Given the description of an element on the screen output the (x, y) to click on. 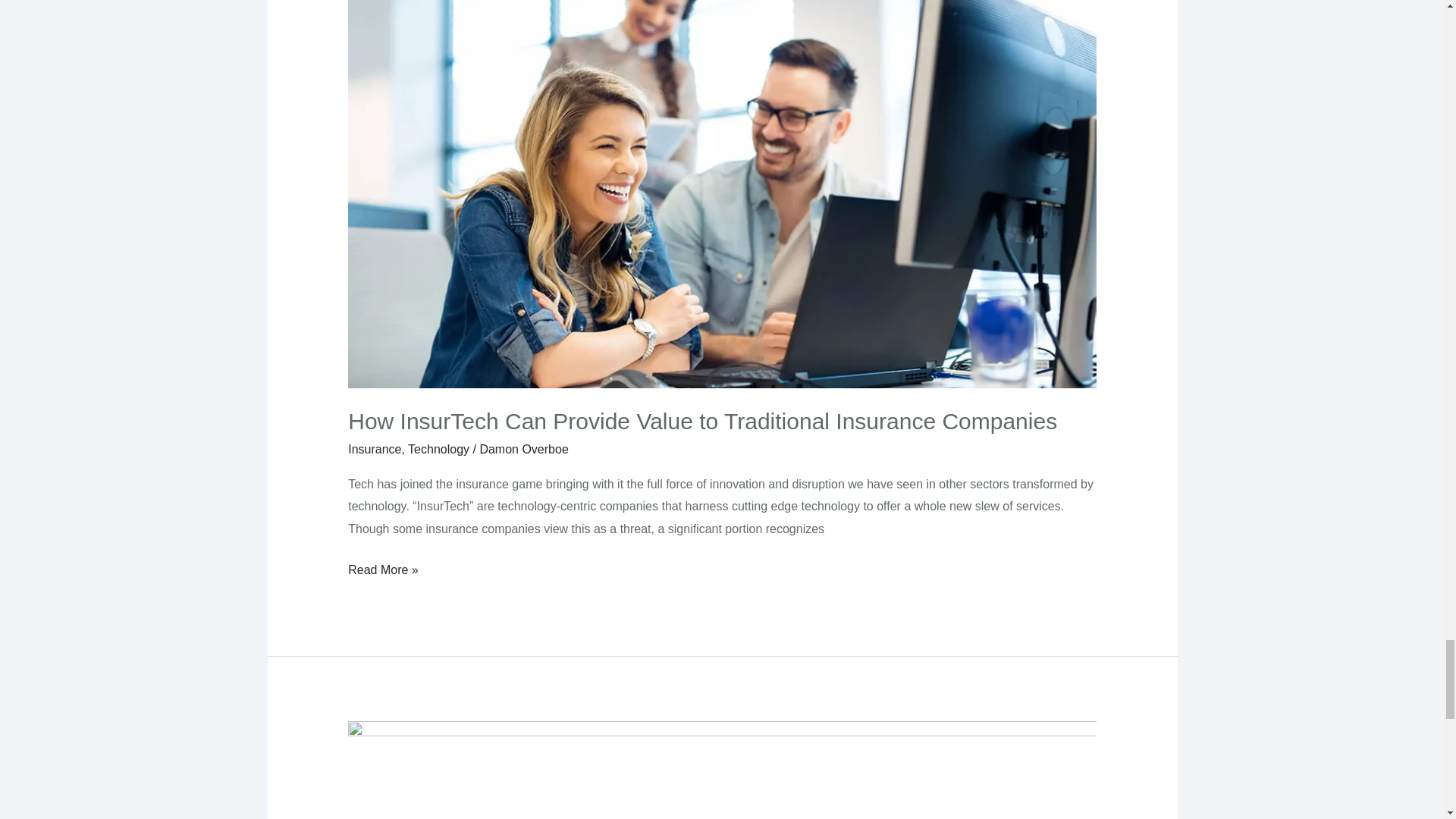
View all posts by Damon Overboe (523, 449)
